Given the description of an element on the screen output the (x, y) to click on. 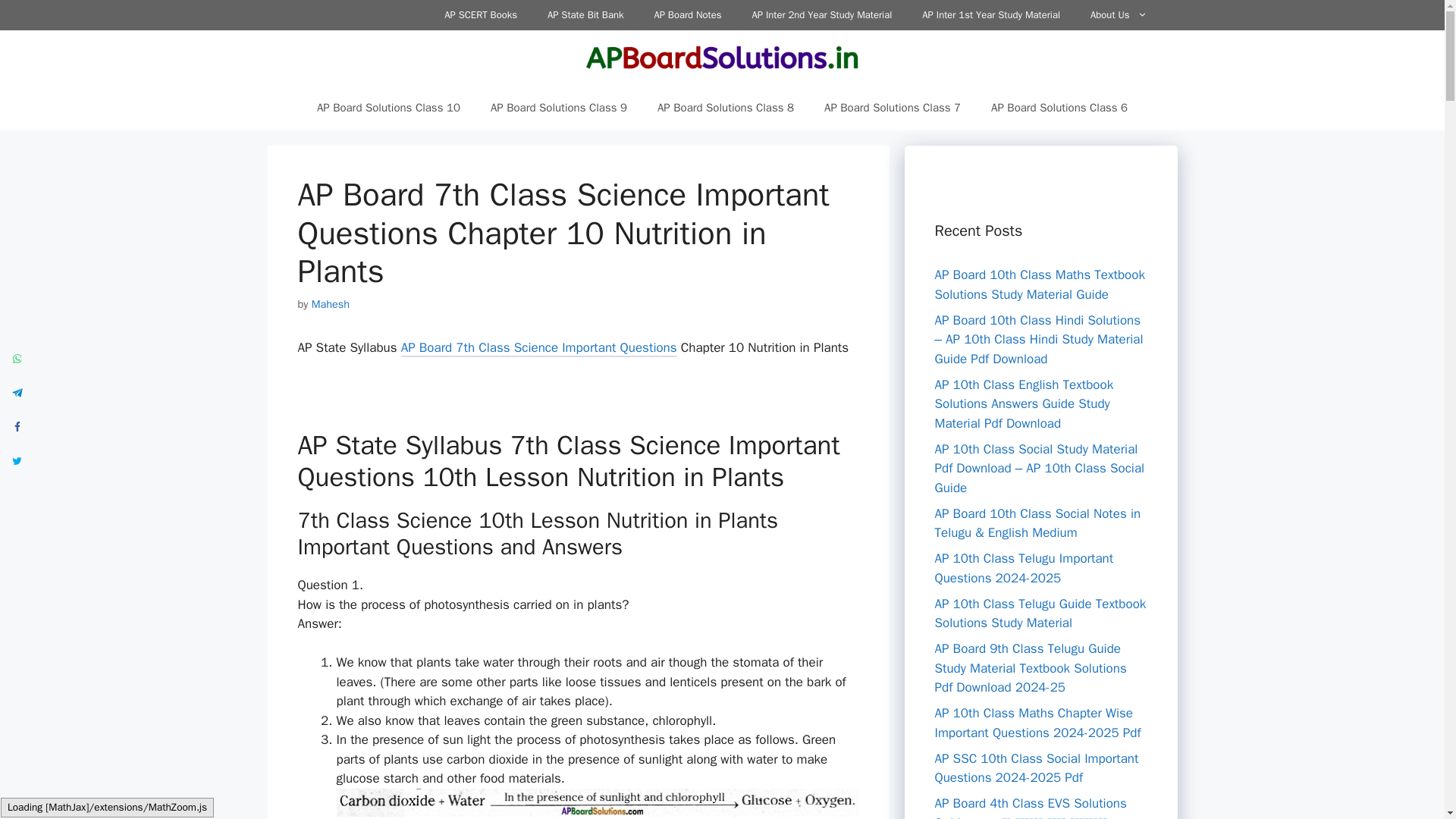
AP Board Solutions Class 8 (725, 107)
Share on Twitter (16, 460)
AP Inter 1st Year Study Material (991, 15)
AP Board Notes (687, 15)
AP SSC 10th Class Social Important Questions 2024-2025 Pdf (1036, 768)
About Us (1118, 15)
AP Board Solutions Class 9 (559, 107)
Share on Facebook (16, 426)
